Given the description of an element on the screen output the (x, y) to click on. 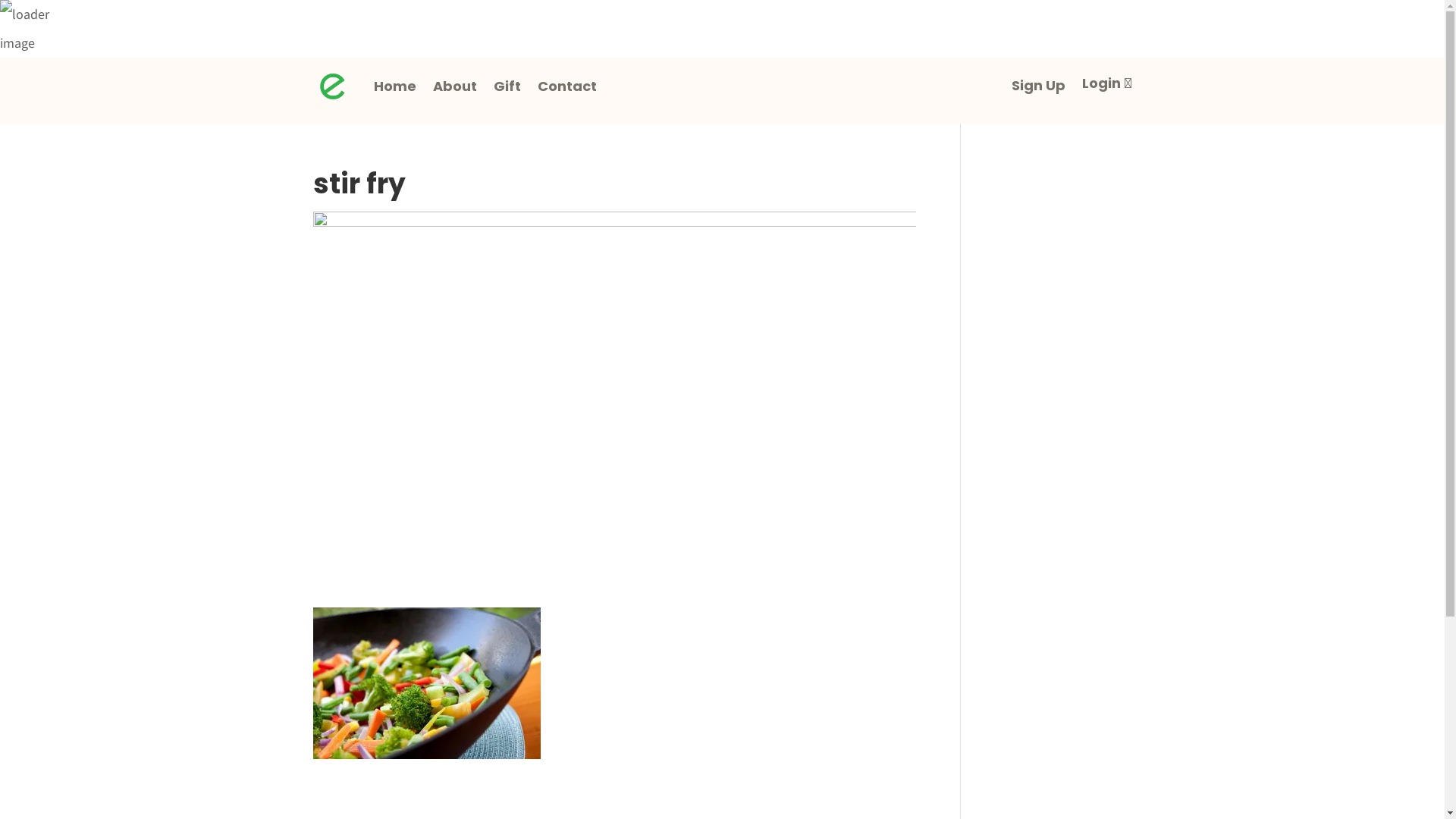
Contact Element type: text (566, 86)
Home Element type: text (394, 86)
Sign Up Element type: text (1038, 88)
Login Element type: text (1106, 86)
About Element type: text (454, 86)
Gift Element type: text (506, 86)
